Given the description of an element on the screen output the (x, y) to click on. 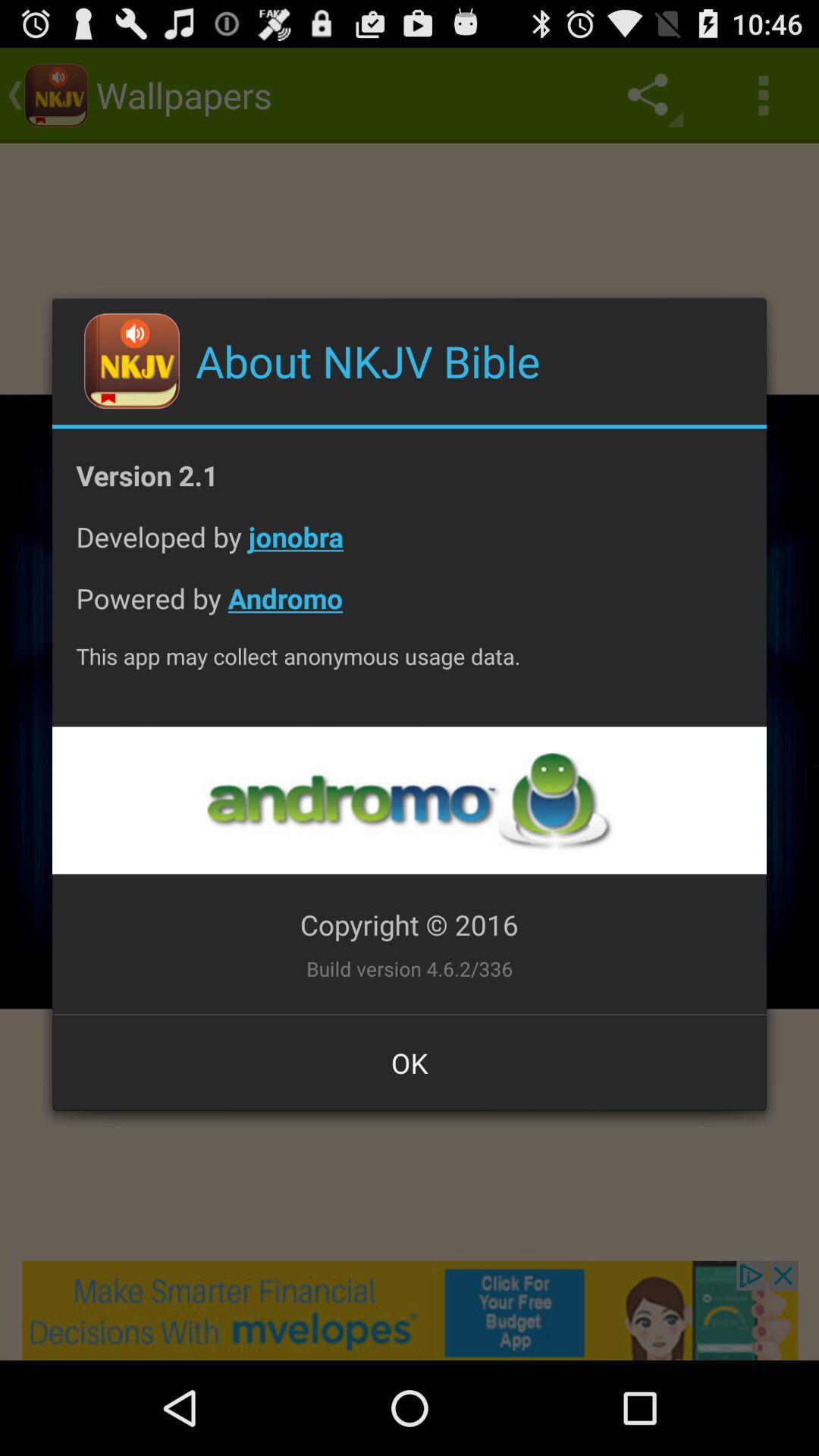
choose the powered by andromo icon (409, 609)
